Given the description of an element on the screen output the (x, y) to click on. 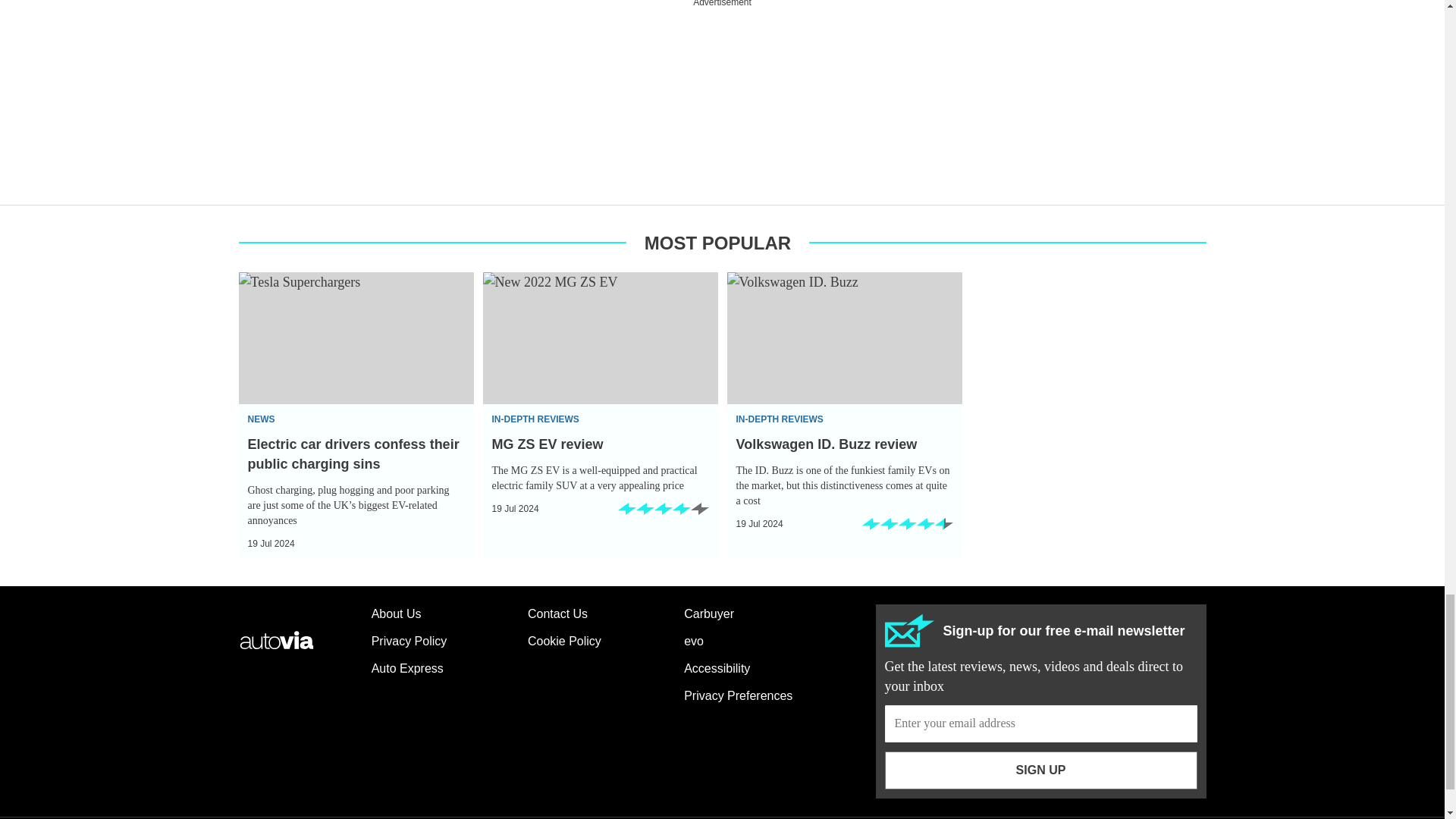
Subscribe (1039, 770)
4 Stars (662, 513)
4.5 Stars (906, 528)
Subscribe (1039, 723)
